Given the description of an element on the screen output the (x, y) to click on. 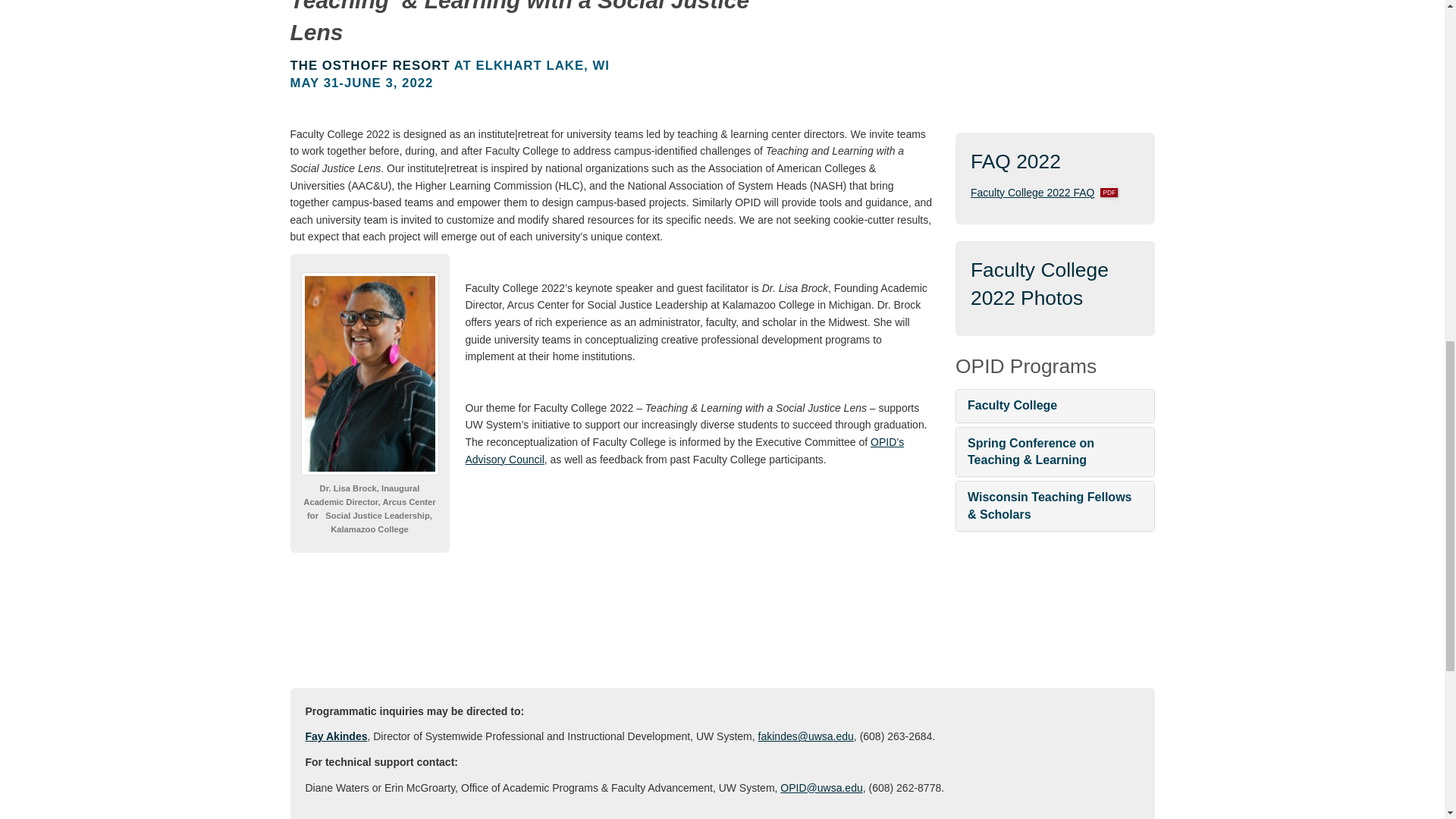
FAQ 2022 (1016, 160)
Faculty College 2022 Photos (1039, 283)
THE OSTHOFF RESORT (369, 65)
Faculty College (1032, 192)
